Given the description of an element on the screen output the (x, y) to click on. 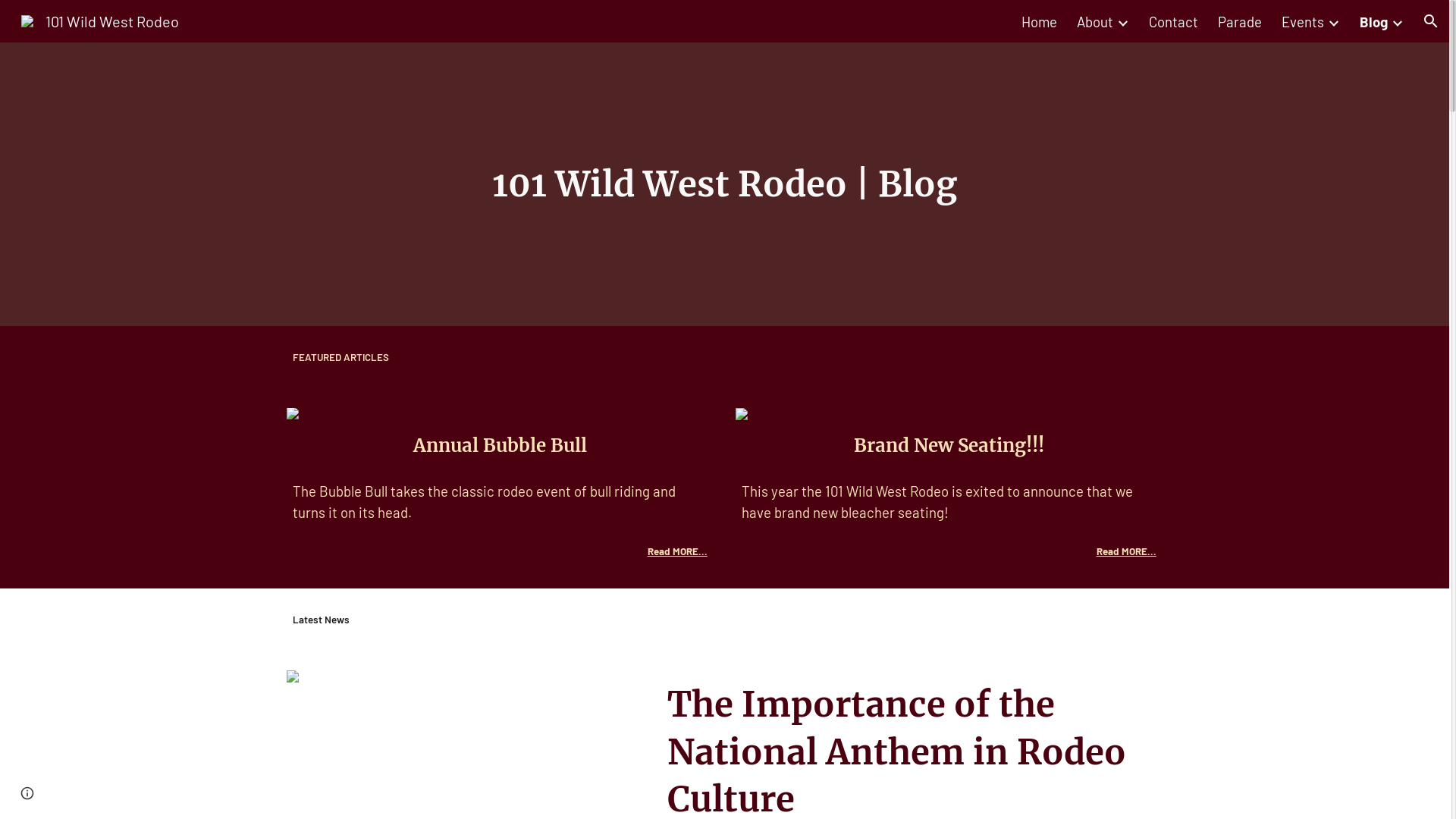
Read MORE... Element type: text (677, 551)
Expand/Collapse Element type: hover (1396, 20)
Brand New Seating!!! Element type: text (948, 445)
Read MORE... Element type: text (1126, 551)
Contact Element type: text (1173, 20)
Expand/Collapse Element type: hover (1122, 20)
About Element type: text (1094, 20)
Home Element type: text (1039, 20)
Parade Element type: text (1239, 20)
Expand/Collapse Element type: hover (1332, 20)
Blog Element type: text (1373, 20)
Events Element type: text (1302, 20)
101 Wild West Rodeo Element type: text (100, 18)
